Given the description of an element on the screen output the (x, y) to click on. 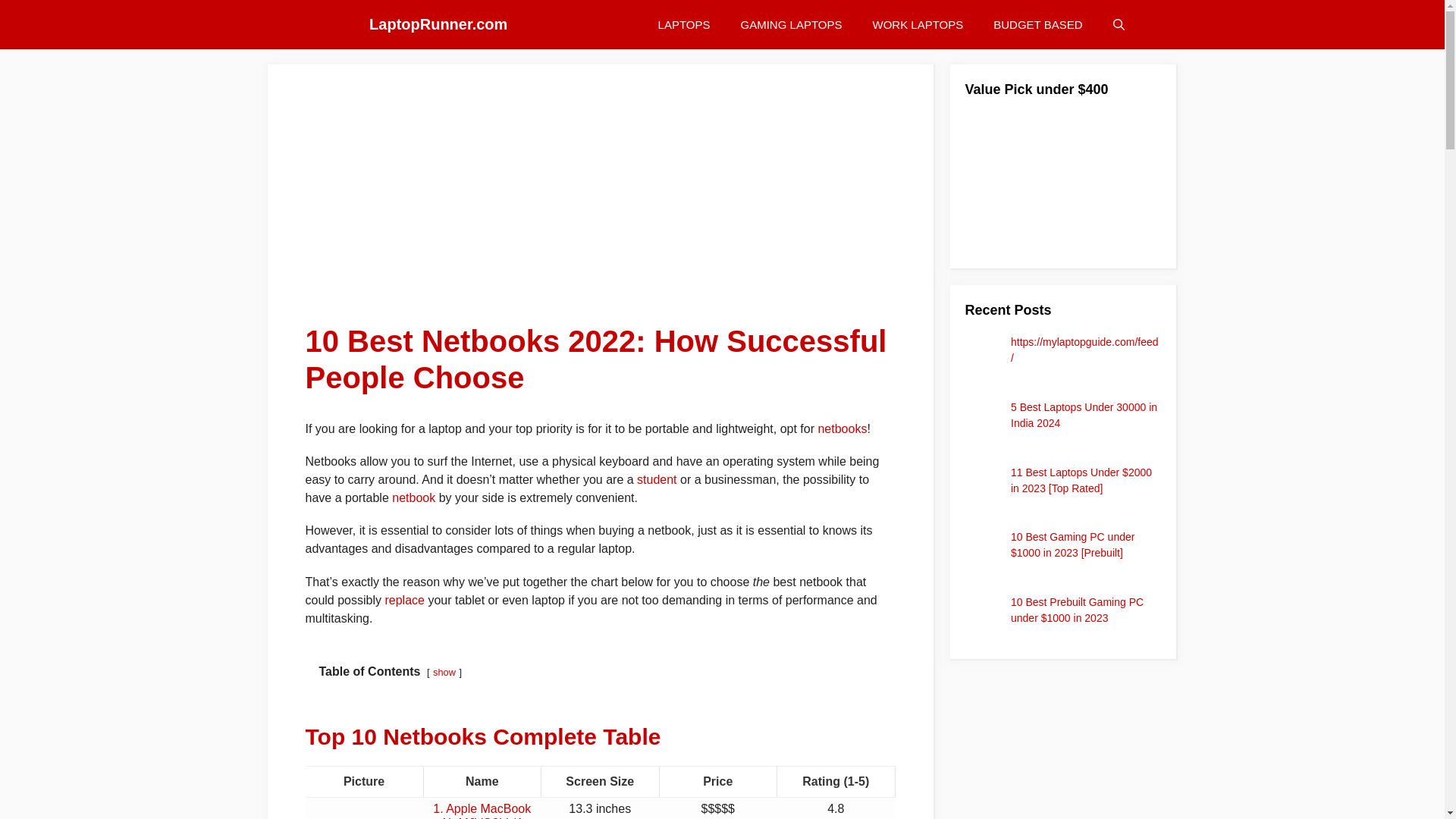
BUDGET BASED (1037, 24)
show (443, 672)
GAMING LAPTOPS (791, 24)
netbooks (841, 428)
LaptopRunner.com (332, 24)
replace (403, 599)
LaptopRunner.com (437, 24)
WORK LAPTOPS (917, 24)
student (657, 479)
LAPTOPS (684, 24)
